Given the description of an element on the screen output the (x, y) to click on. 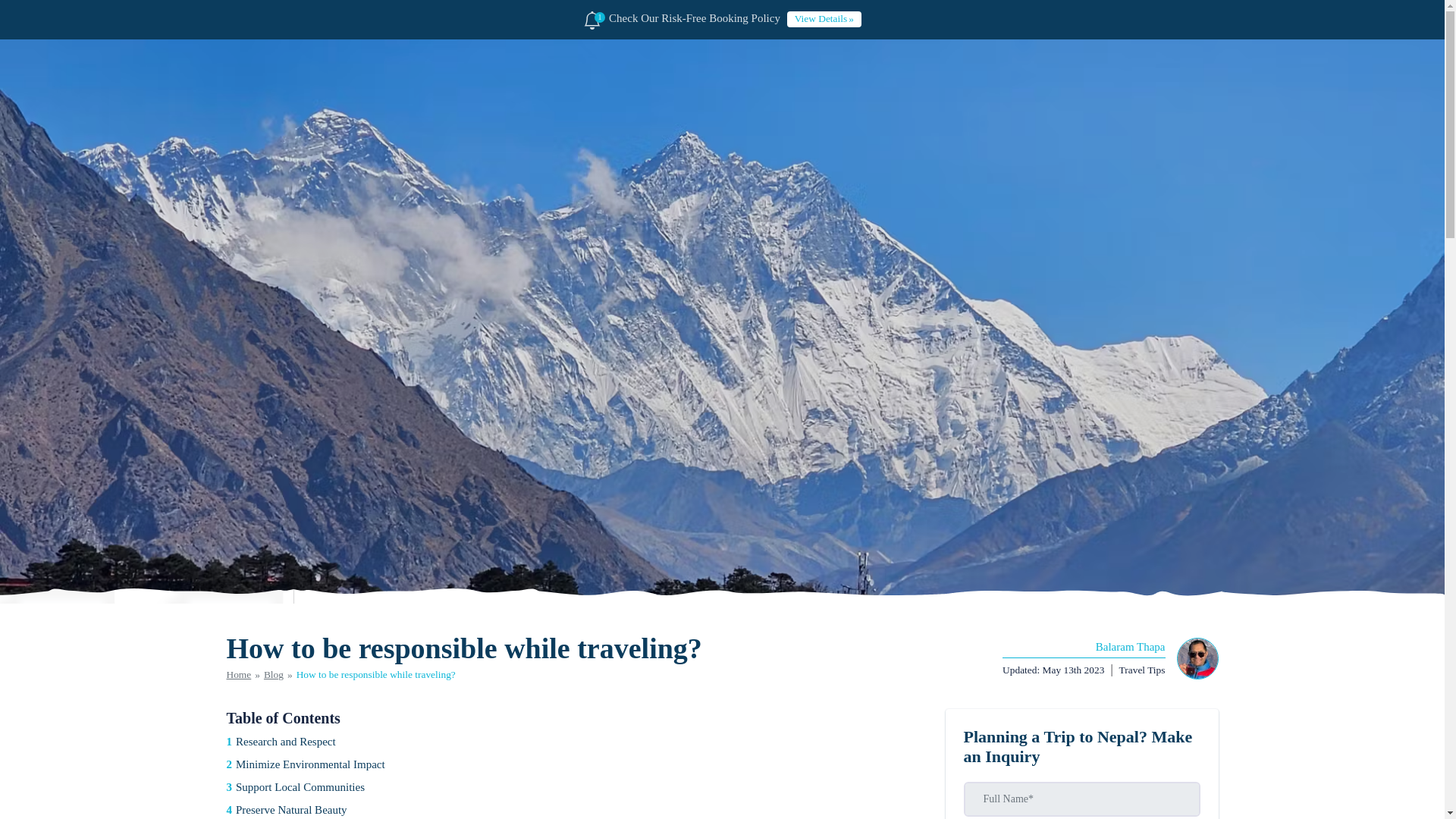
View Details (824, 18)
Research and Respect (569, 741)
Travel Tips (1142, 669)
Minimize Environmental Impact (569, 764)
Support Local Communities (569, 787)
Home (237, 674)
Preserve Natural Beauty (569, 809)
Balaram Thapa (1083, 648)
Blog (273, 674)
